Given the description of an element on the screen output the (x, y) to click on. 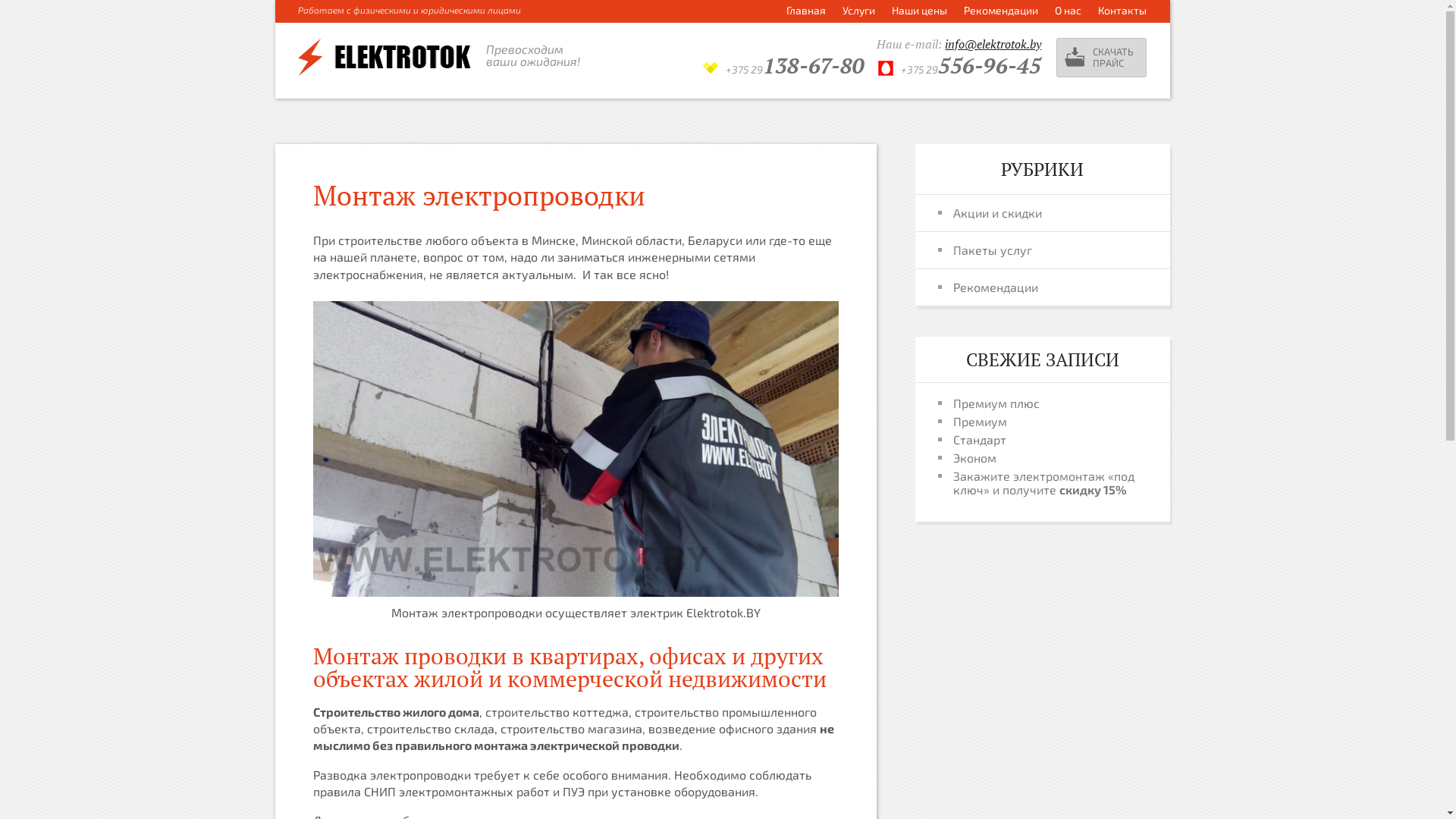
+375 29138-67-80 Element type: text (795, 68)
+375 29556-96-45 Element type: text (970, 68)
info@elektrotok.by Element type: text (992, 43)
